Given the description of an element on the screen output the (x, y) to click on. 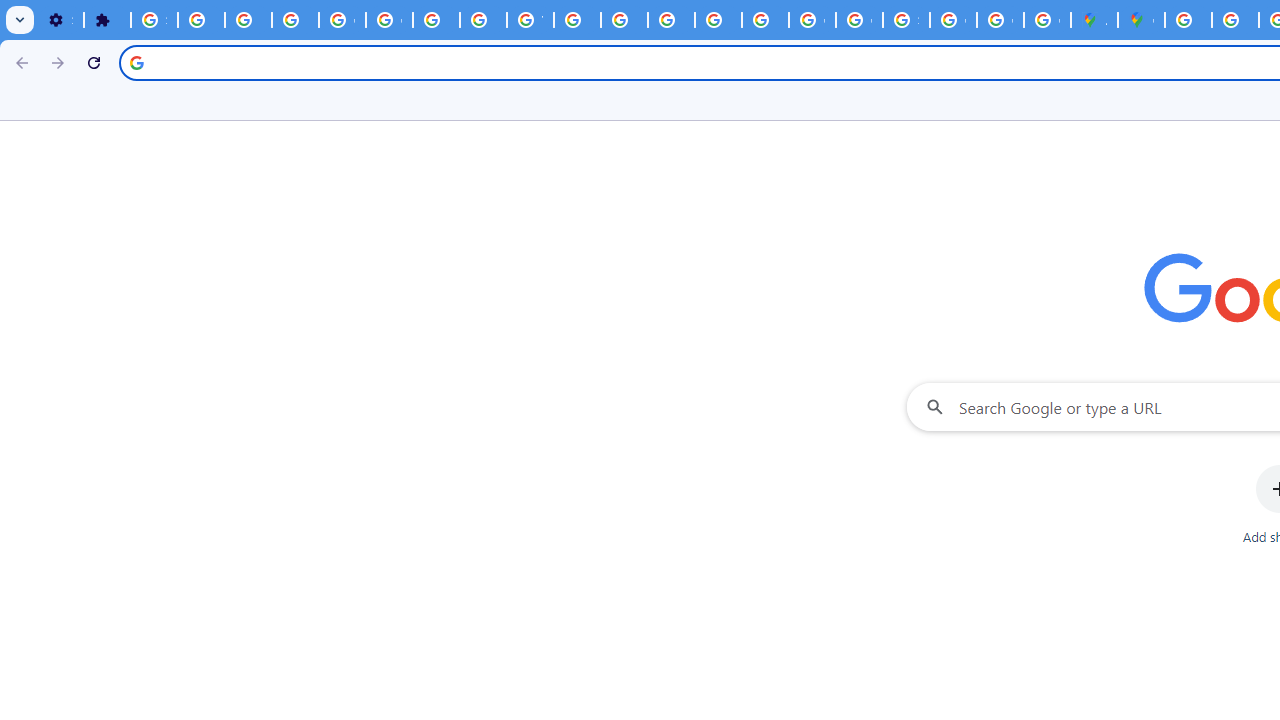
Search icon (136, 62)
Delete photos & videos - Computer - Google Photos Help (201, 20)
Google Account Help (342, 20)
Privacy Help Center - Policies Help (1235, 20)
Create your Google Account (1047, 20)
Policy Accountability and Transparency - Transparency Center (1188, 20)
Settings - On startup (60, 20)
